Given the description of an element on the screen output the (x, y) to click on. 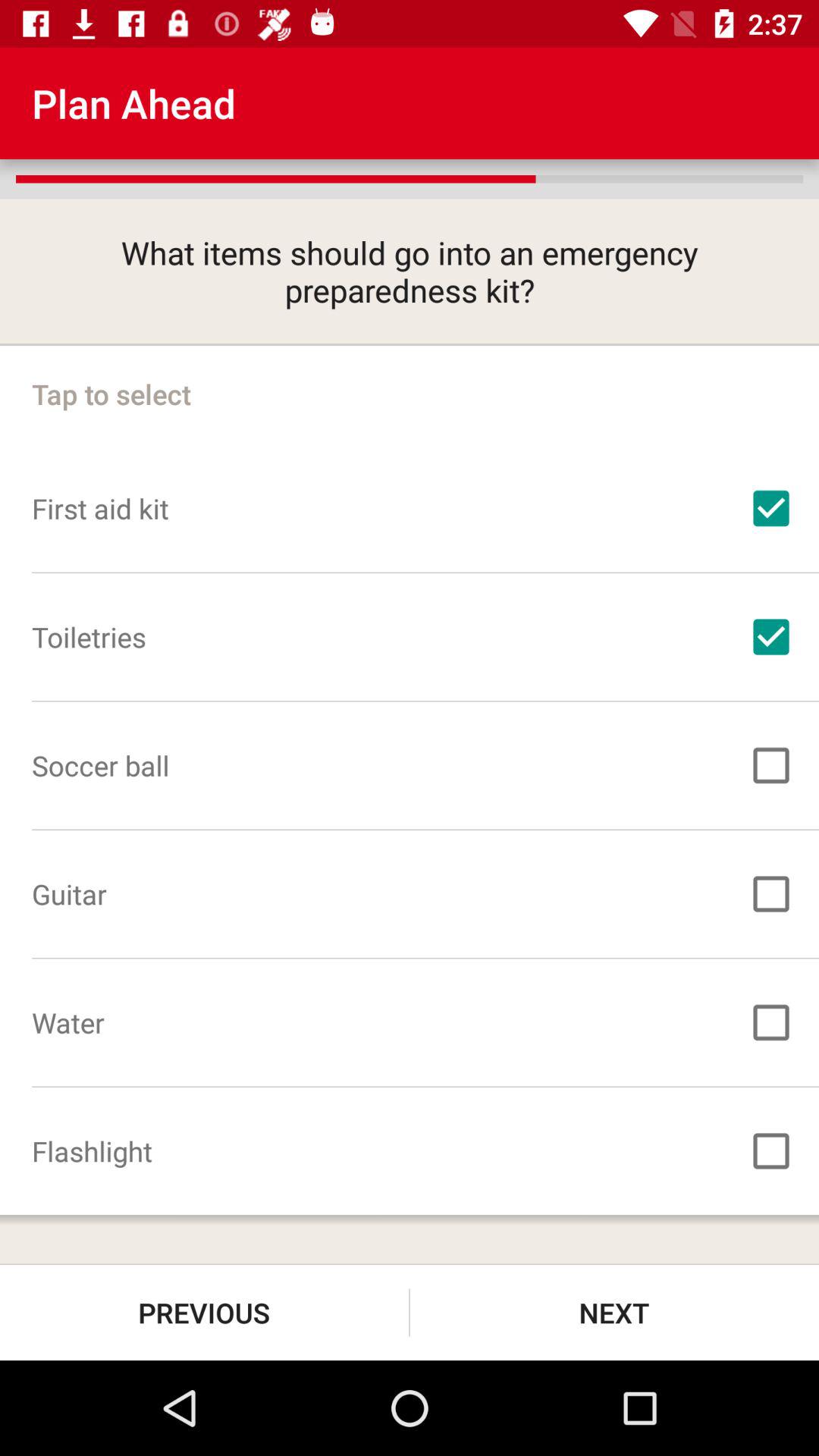
scroll to previous icon (204, 1312)
